Given the description of an element on the screen output the (x, y) to click on. 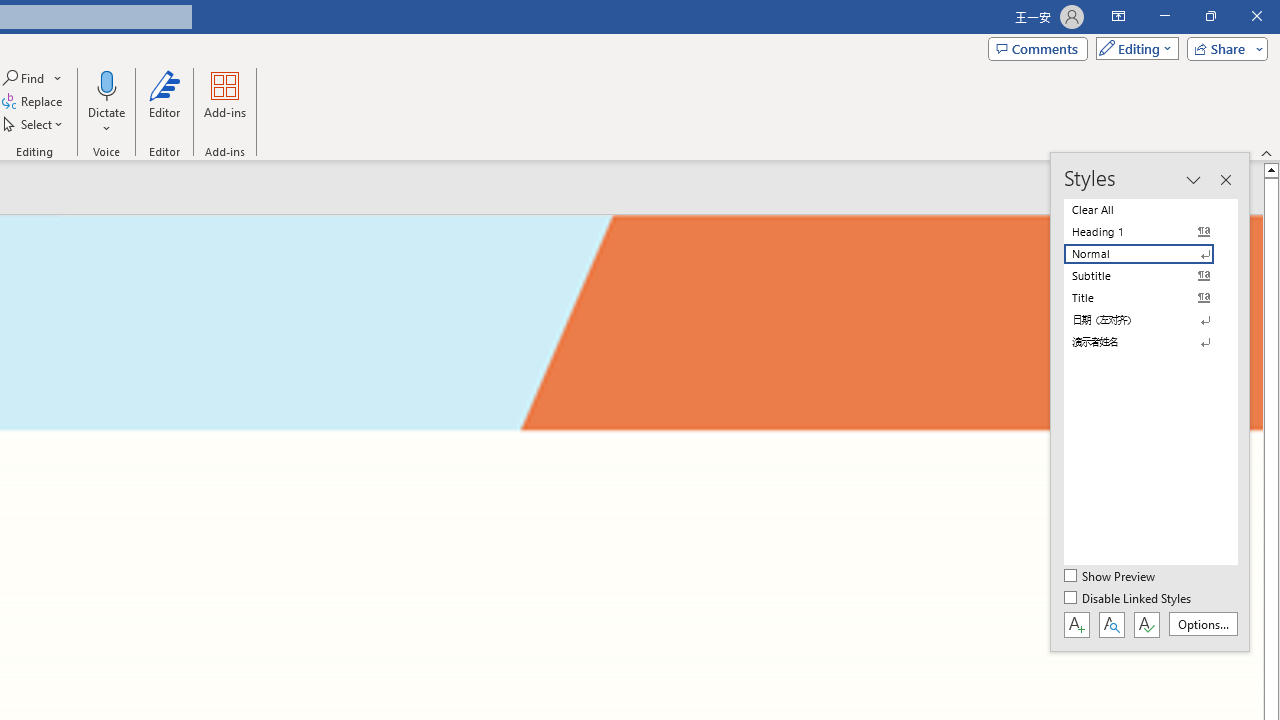
Clear All (1150, 209)
Options... (1202, 623)
Title (1150, 297)
Normal (1150, 253)
Line up (1271, 169)
